Given the description of an element on the screen output the (x, y) to click on. 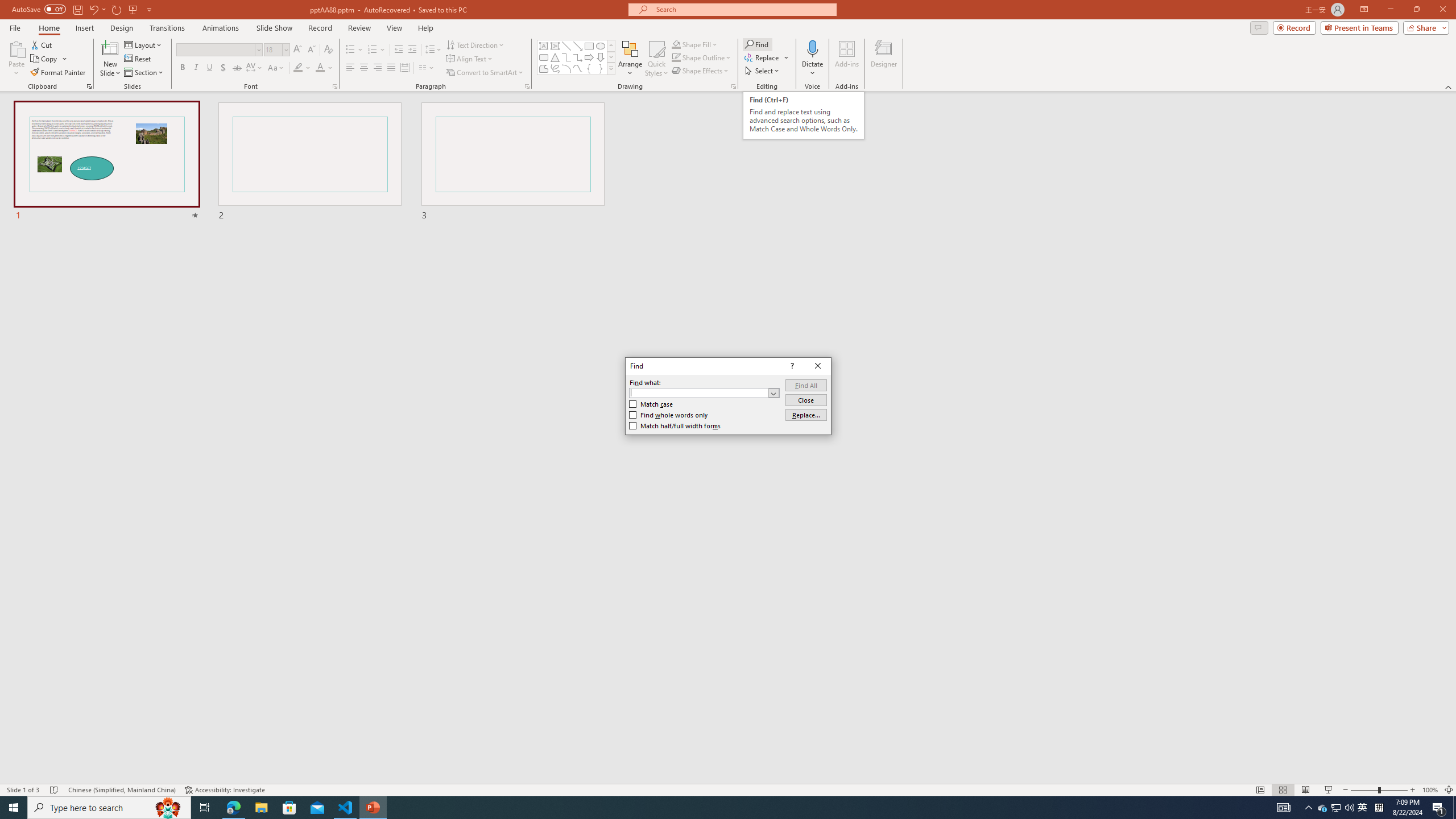
Find All (805, 384)
Find what (704, 393)
